Given the description of an element on the screen output the (x, y) to click on. 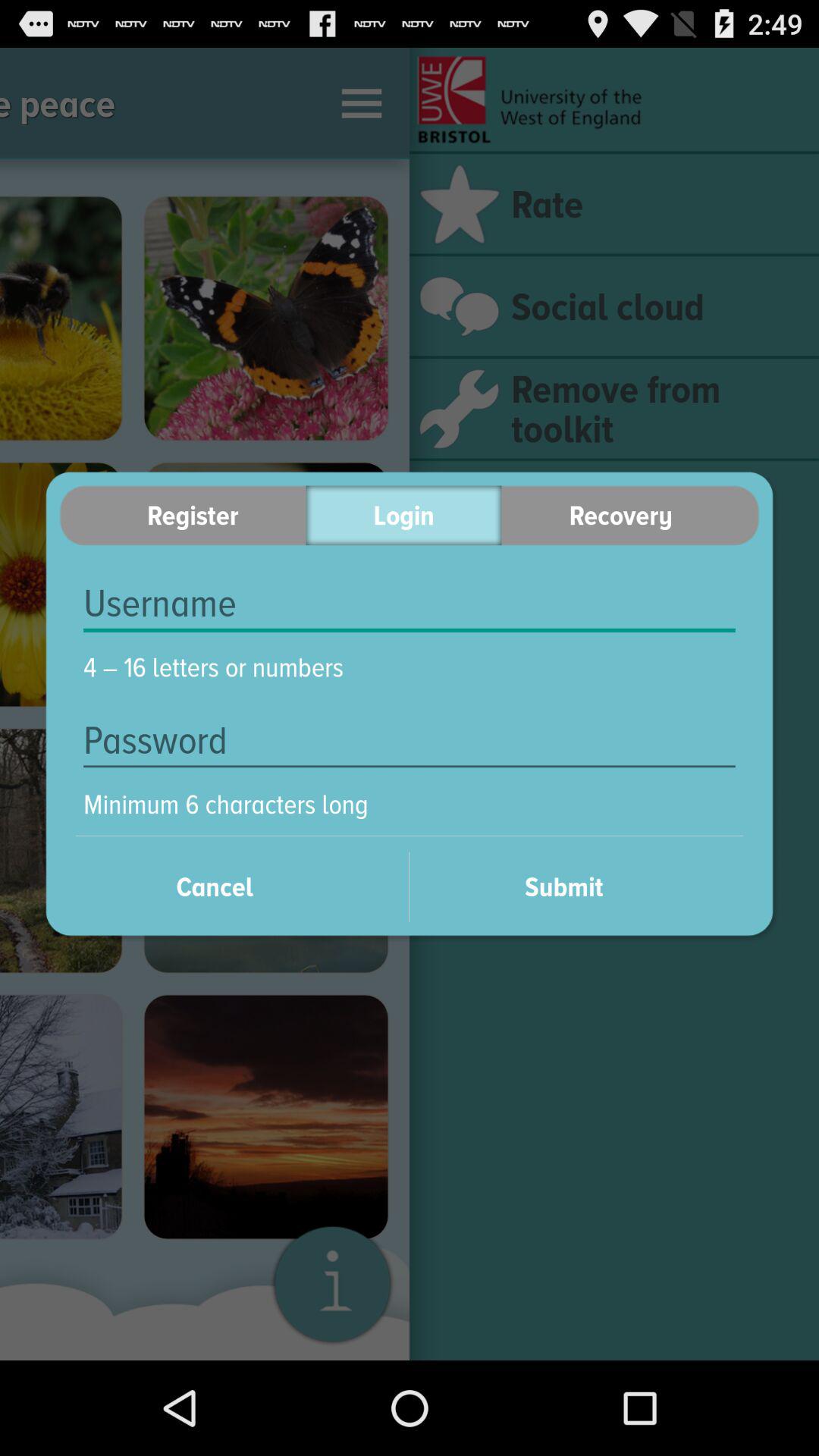
open item to the left of login (182, 515)
